Given the description of an element on the screen output the (x, y) to click on. 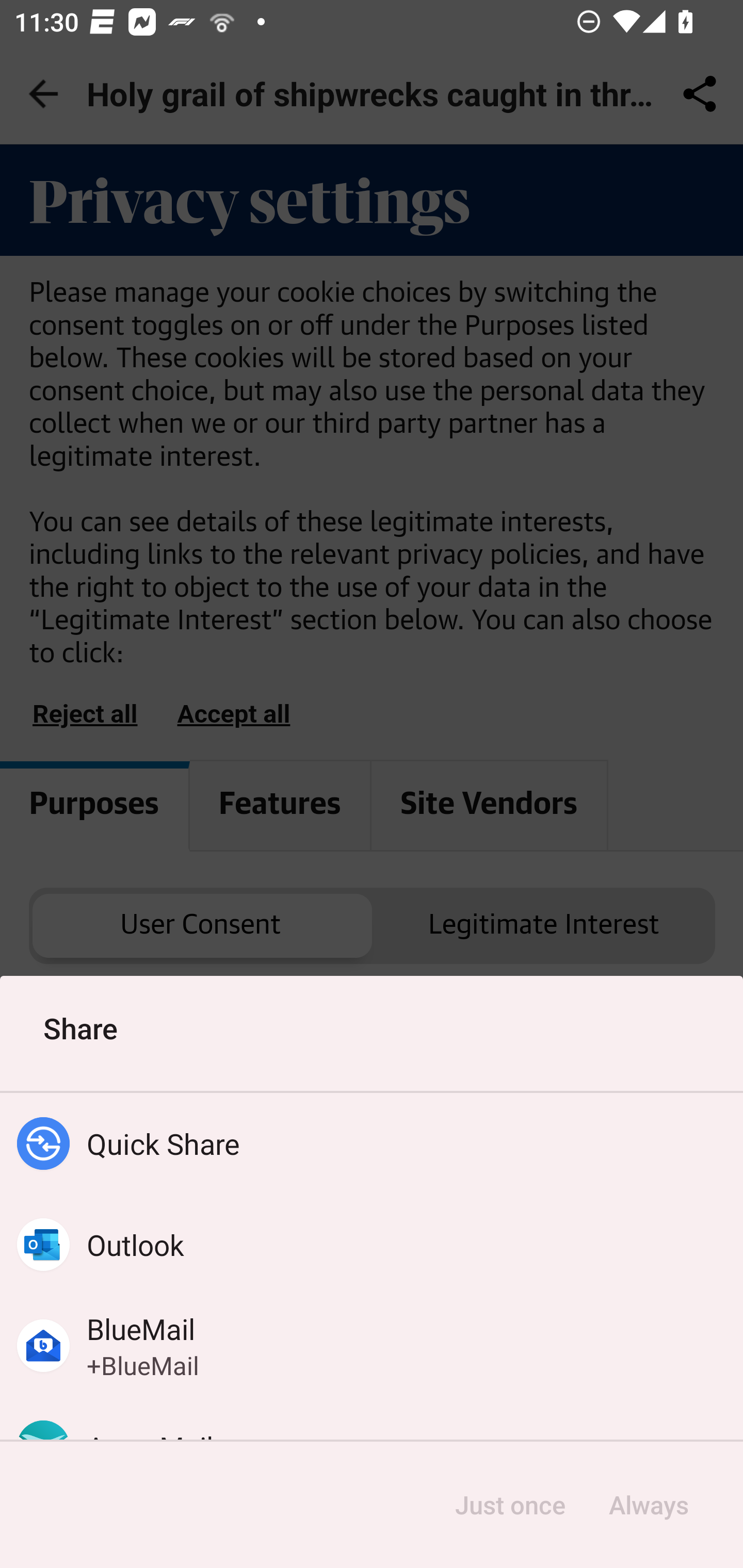
Quick Share (371, 1143)
Outlook (371, 1244)
BlueMail +BlueMail (371, 1345)
Just once (509, 1504)
Always (648, 1504)
